Given the description of an element on the screen output the (x, y) to click on. 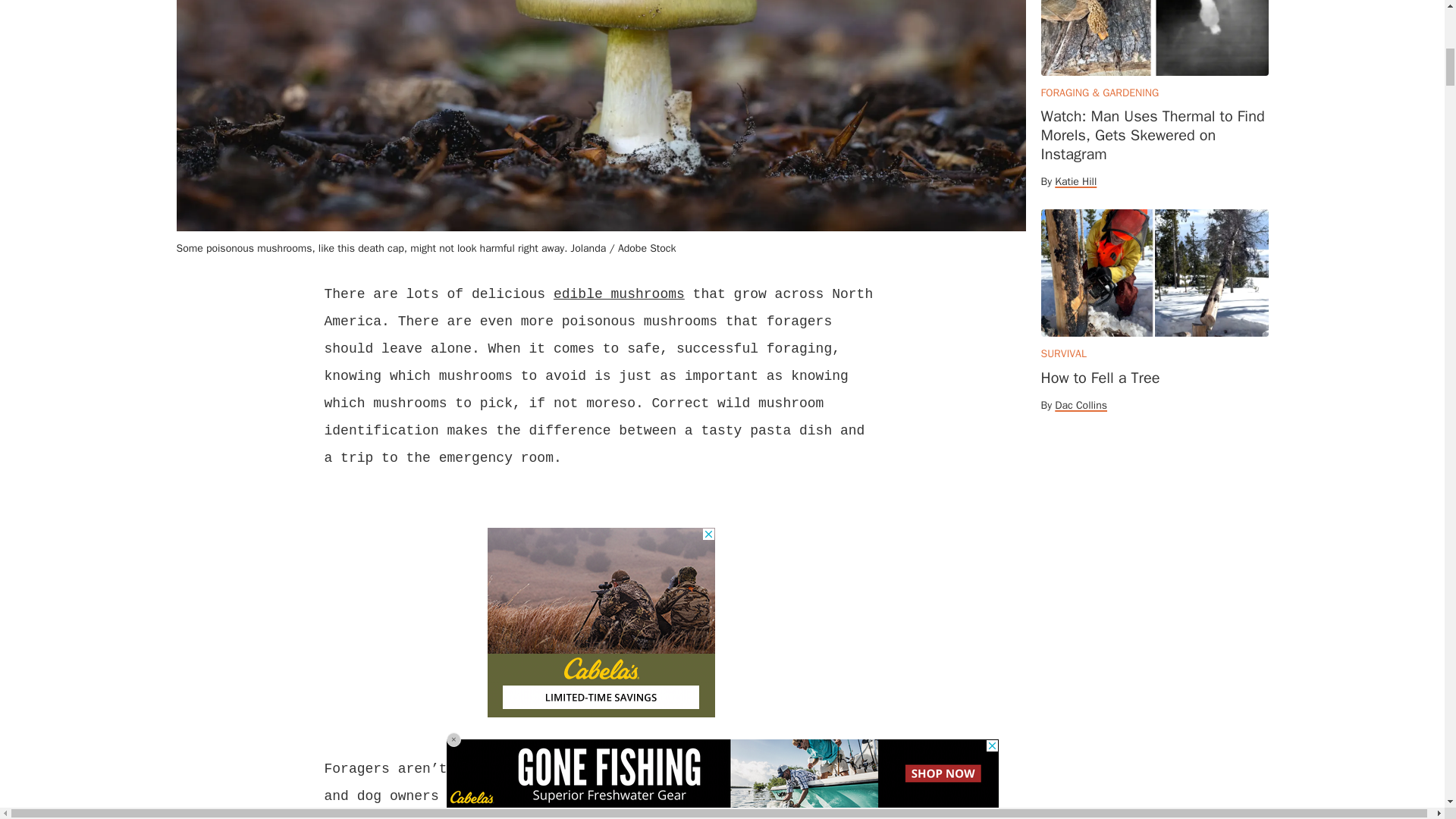
3rd party ad content (600, 622)
3rd party ad content (1154, 554)
